Given the description of an element on the screen output the (x, y) to click on. 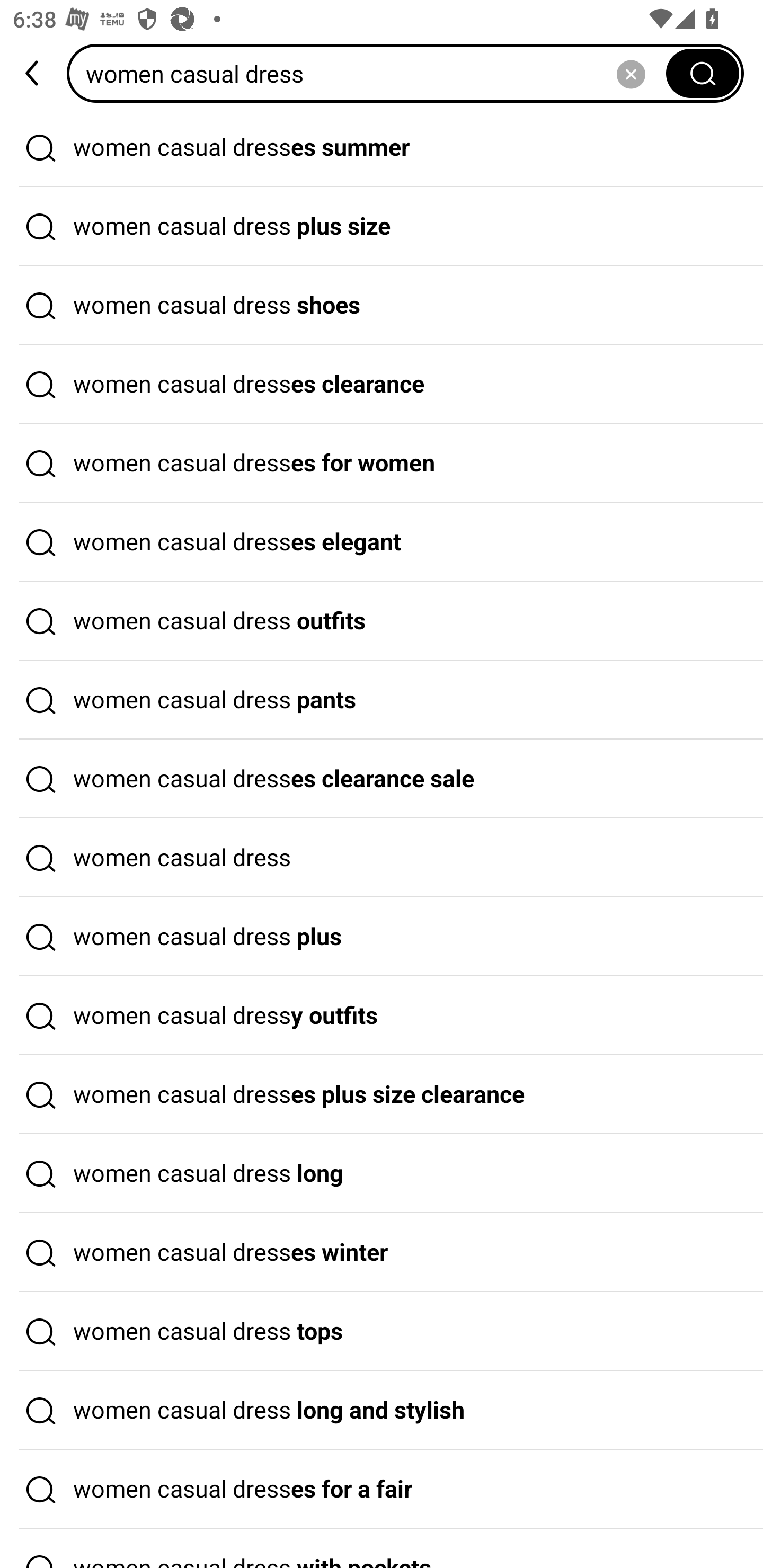
back (33, 72)
women casual dress (372, 73)
Delete search history (630, 73)
women casual dresses summer (381, 147)
women casual dress plus size (381, 226)
women casual dress shoes (381, 305)
women casual dresses clearance (381, 383)
women casual dresses for women (381, 463)
women casual dresses elegant (381, 542)
women casual dress outfits (381, 620)
women casual dress pants (381, 700)
women casual dresses clearance sale (381, 779)
women casual dress (381, 857)
women casual dress plus (381, 936)
women casual dressy outfits (381, 1015)
women casual dresses plus size clearance (381, 1094)
women casual dress long (381, 1173)
women casual dresses winter (381, 1252)
women casual dress tops (381, 1331)
women casual dress long and stylish (381, 1410)
women casual dresses for a fair (381, 1489)
